Given the description of an element on the screen output the (x, y) to click on. 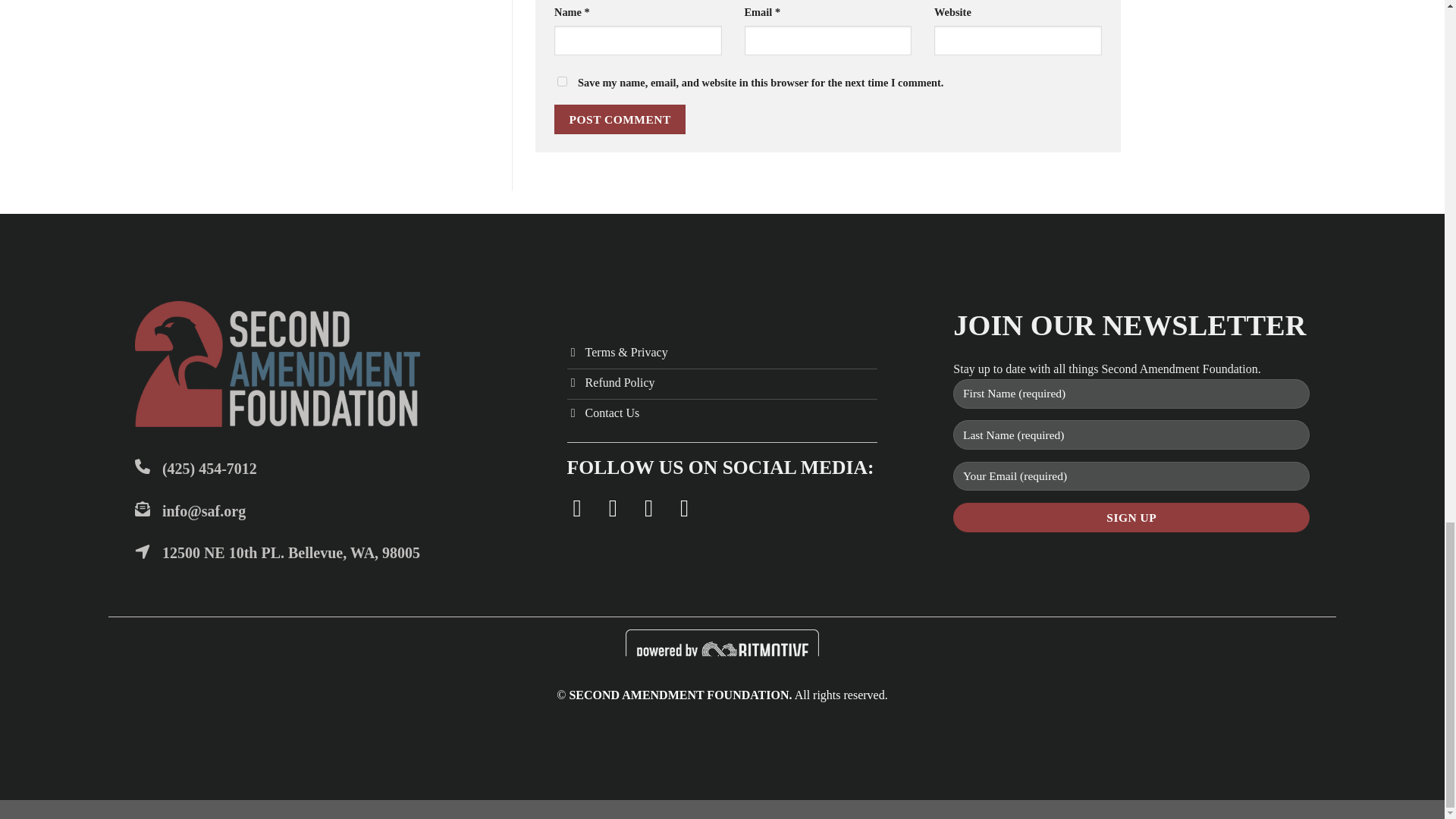
Sign Up (1130, 517)
yes (562, 81)
Post Comment (619, 119)
